Given the description of an element on the screen output the (x, y) to click on. 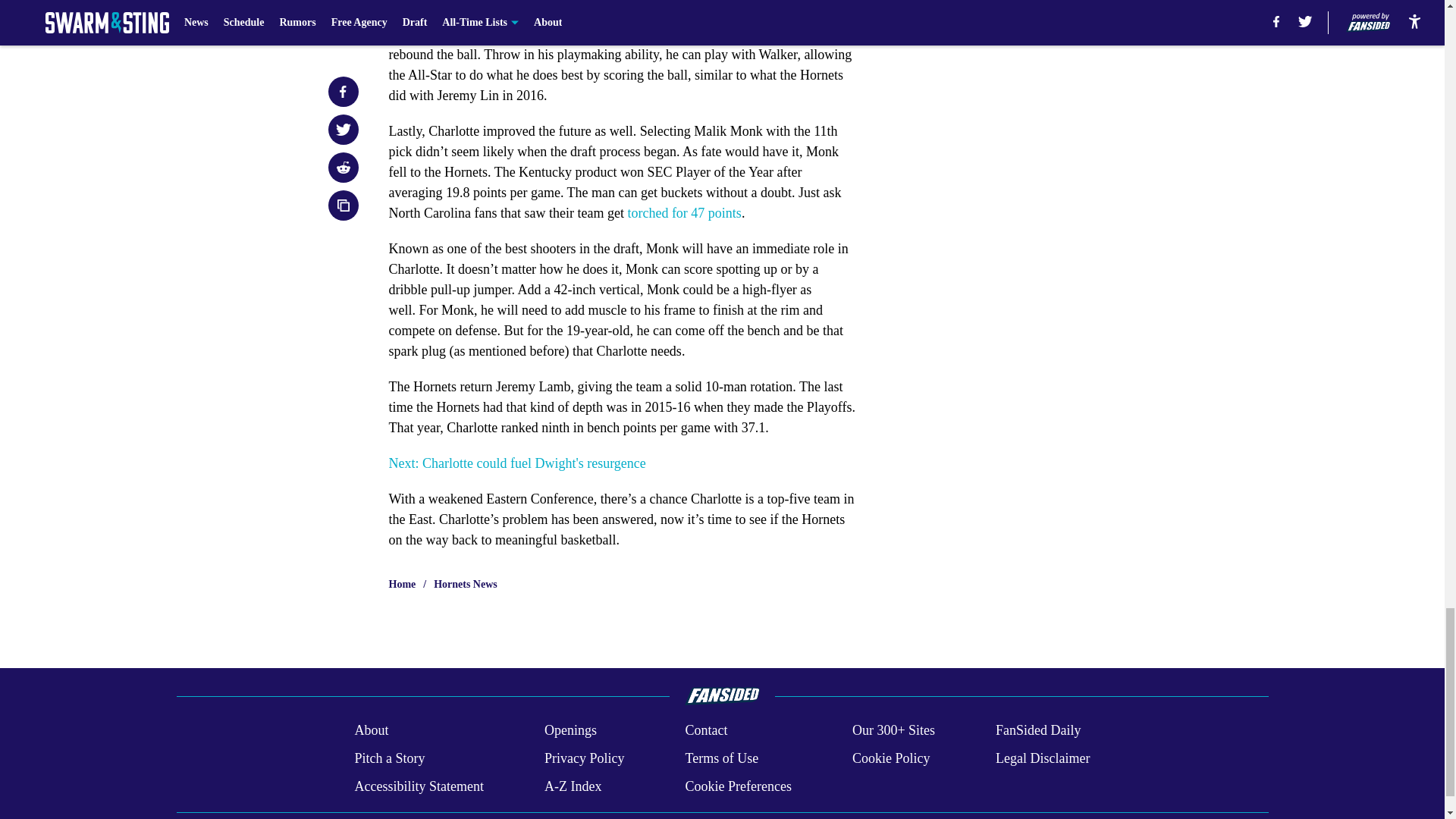
Hornets News (465, 584)
Home (401, 584)
Next: Charlotte could fuel Dwight's resurgence (516, 462)
torched for 47 points (684, 212)
